Given the description of an element on the screen output the (x, y) to click on. 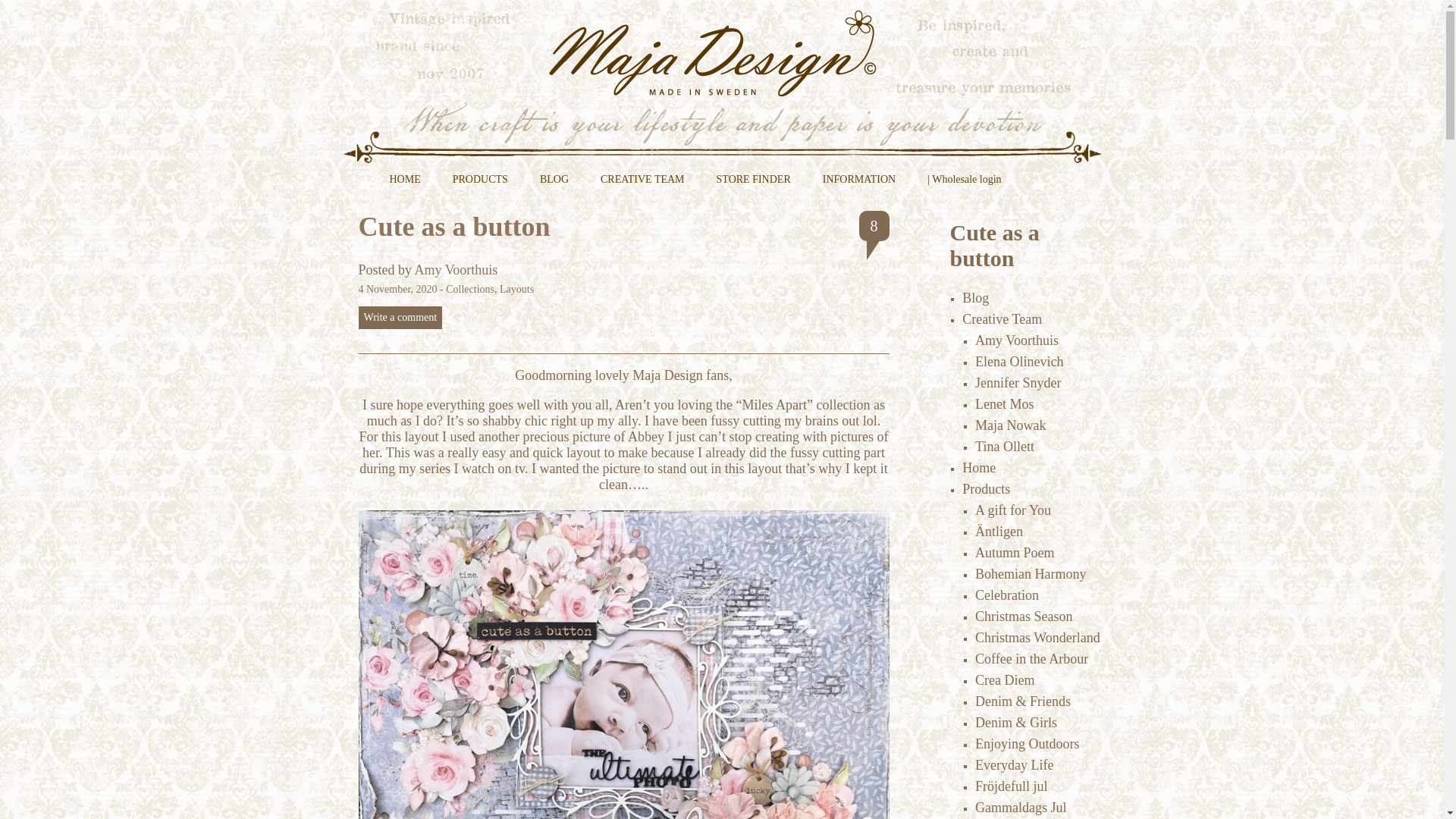
Write a comment (400, 317)
Elena Olinevich (1018, 361)
STORE FINDER (753, 185)
Comments (873, 225)
CREATIVE TEAM (642, 185)
A gift for You (1013, 509)
Home (978, 467)
8 (873, 225)
BLOG (553, 185)
Bohemian Harmony (1030, 573)
Blog (975, 297)
PRODUCTS (479, 185)
HOME (404, 185)
Cute as a button (454, 226)
Products (986, 488)
